Given the description of an element on the screen output the (x, y) to click on. 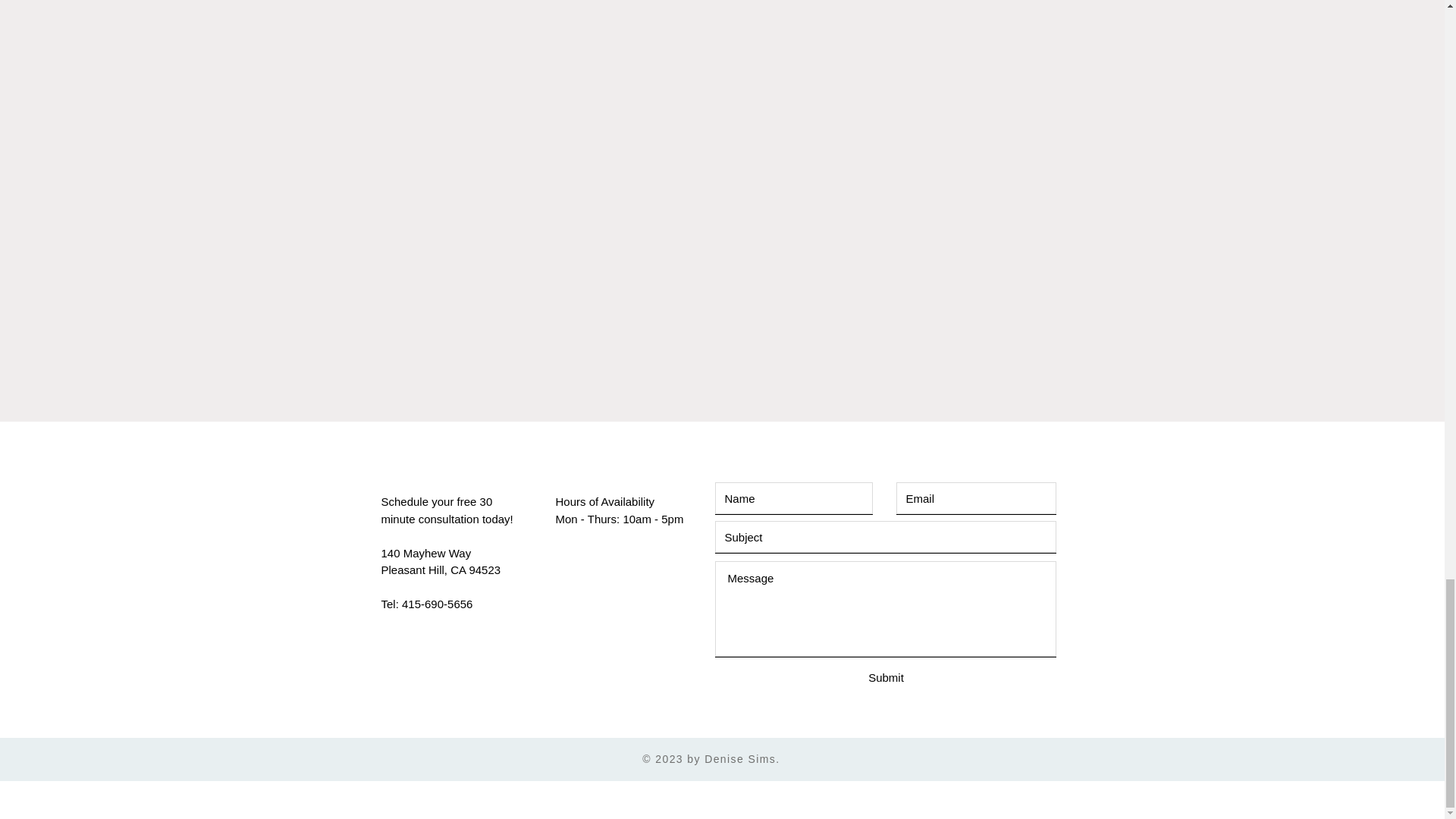
Submit (886, 677)
